Given the description of an element on the screen output the (x, y) to click on. 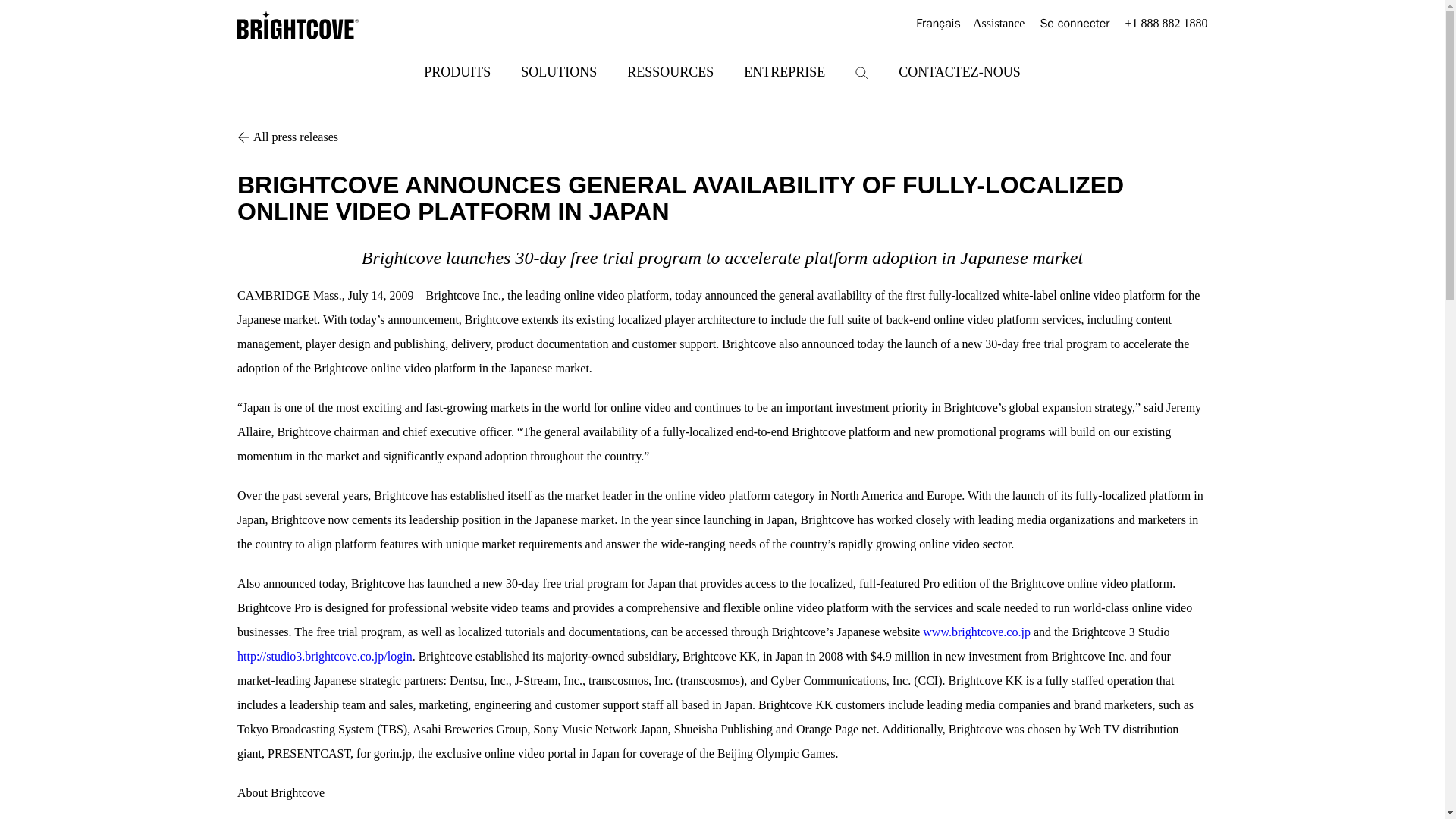
Se connecter (1074, 23)
SEARCH ICONA MAGNIFYING GLASS ICON. (861, 72)
Assistance (998, 23)
All press releases (722, 137)
CONTACTEZ-NOUS (959, 71)
www.brightcove.co.jp (976, 631)
